Given the description of an element on the screen output the (x, y) to click on. 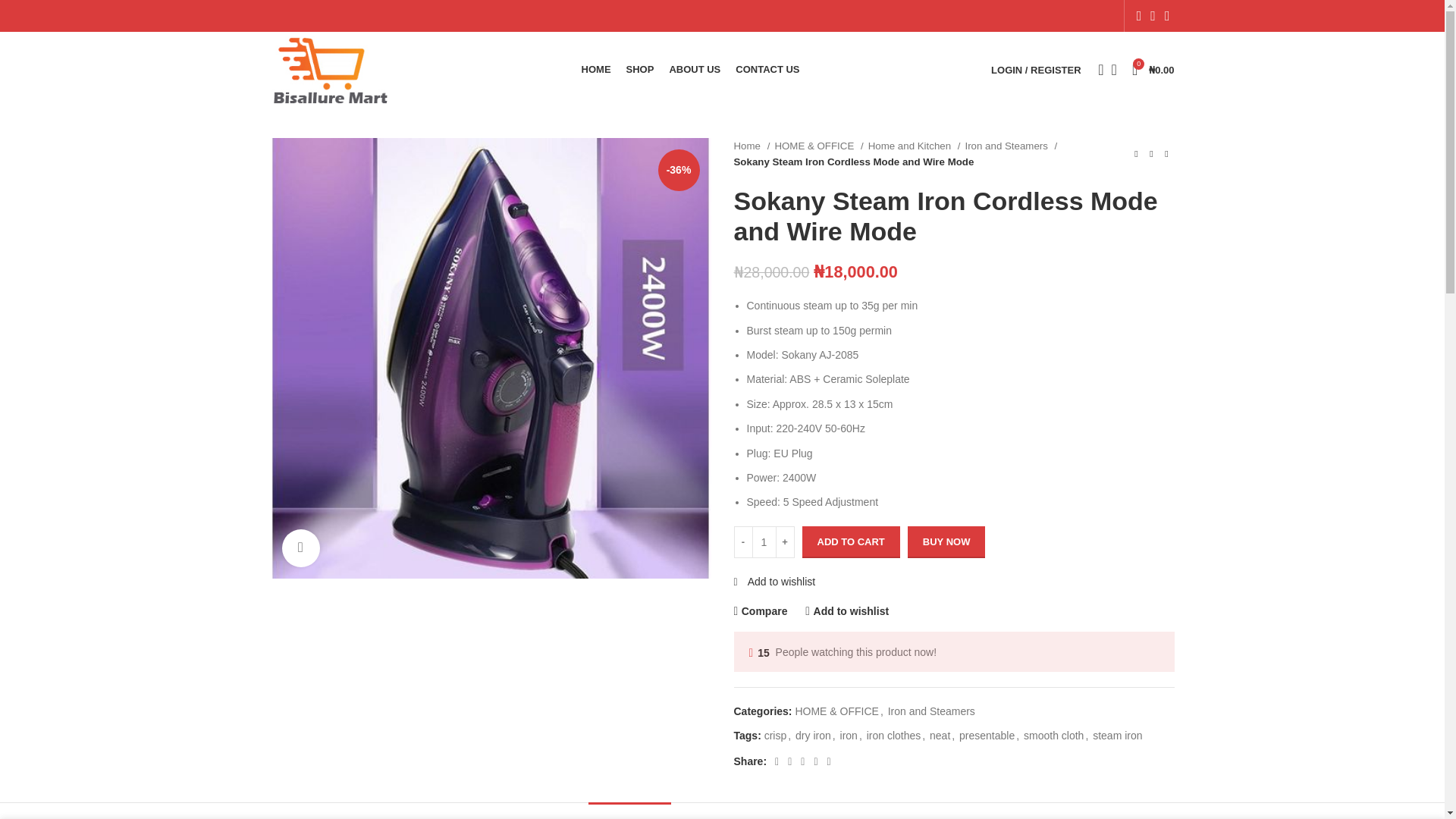
BUY NOW (946, 541)
Search (1096, 69)
1 (763, 541)
ADD TO CART (850, 541)
SHOP (639, 69)
Shopping cart (1153, 69)
HOME (595, 69)
Add to wishlist (846, 610)
My account (1035, 69)
Add to wishlist (774, 581)
Compare (760, 610)
- (742, 541)
CONTACT US (767, 69)
Iron and Steamers (1010, 145)
